Given the description of an element on the screen output the (x, y) to click on. 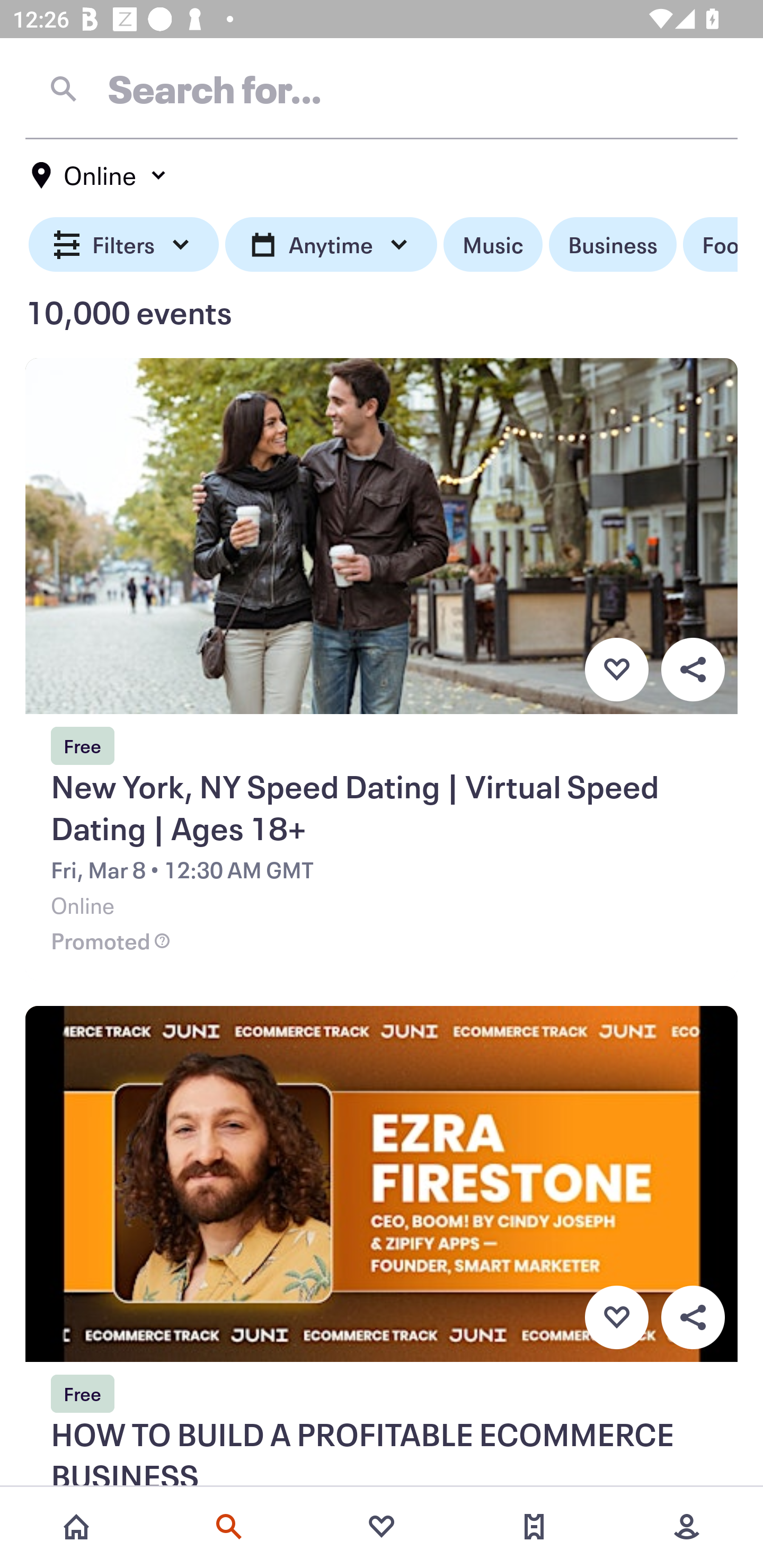
Search for… (381, 88)
Online (99, 175)
Filters (123, 244)
Anytime (331, 244)
Music (492, 244)
Business (612, 244)
Favorite button (616, 669)
Overflow menu button (692, 669)
Promoted event help (161, 940)
Favorite button (616, 1317)
Overflow menu button (692, 1317)
Home (76, 1526)
Search events (228, 1526)
Favorites (381, 1526)
Tickets (533, 1526)
More (686, 1526)
